Given the description of an element on the screen output the (x, y) to click on. 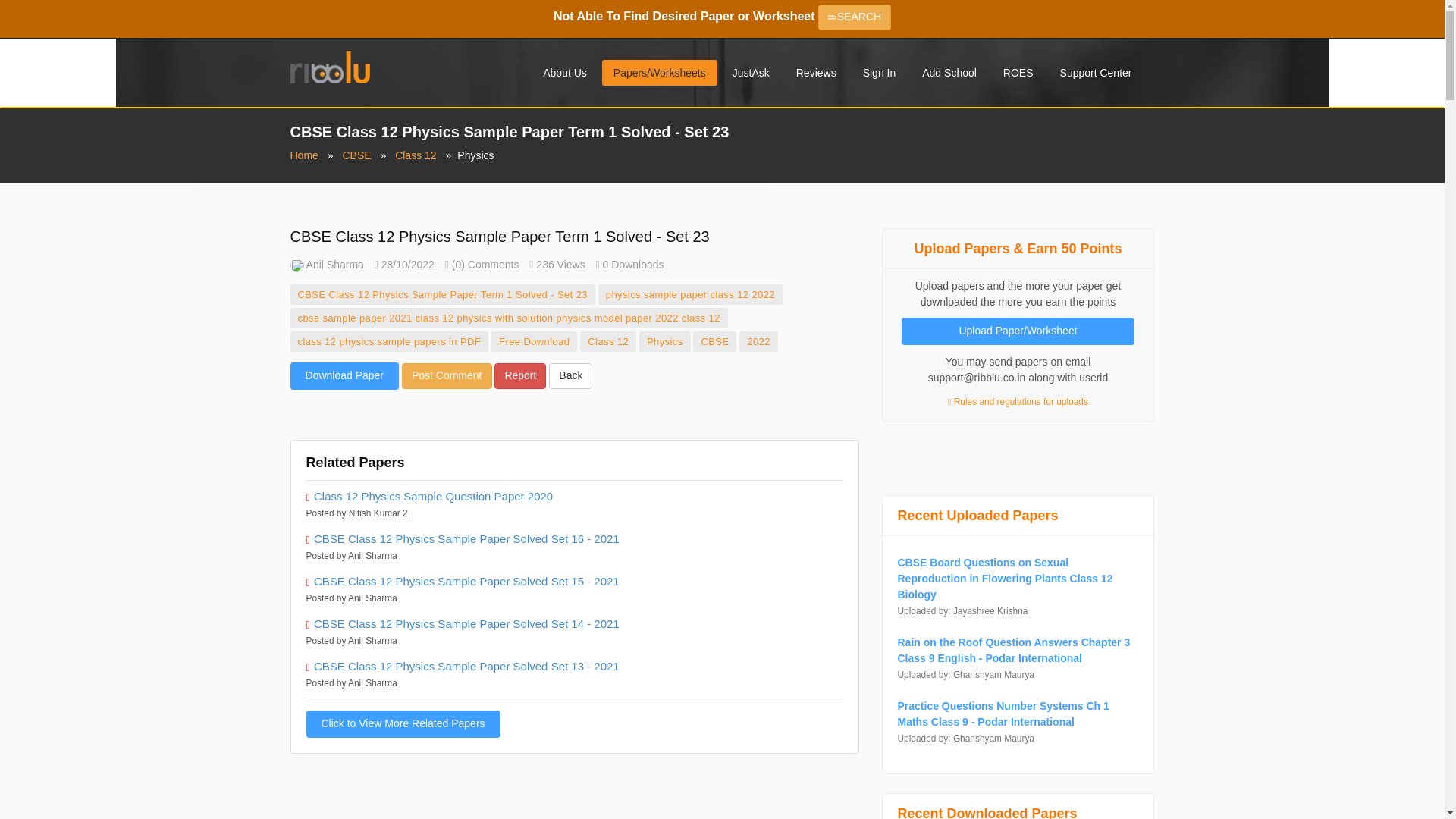
CBSE Class 12 Physics Sample Paper Solved Set 16 - 2021 (574, 538)
236 Views (557, 264)
physics sample paper class 12 2022 (690, 294)
CBSE (714, 341)
0 Downloads (629, 264)
Add School (949, 72)
Class 12 Physics Sample Question Paper 2020 (574, 497)
Anil Sharma (325, 264)
Class 12 Physics Sample Question Paper 2020 (574, 497)
Sign In (879, 72)
